Given the description of an element on the screen output the (x, y) to click on. 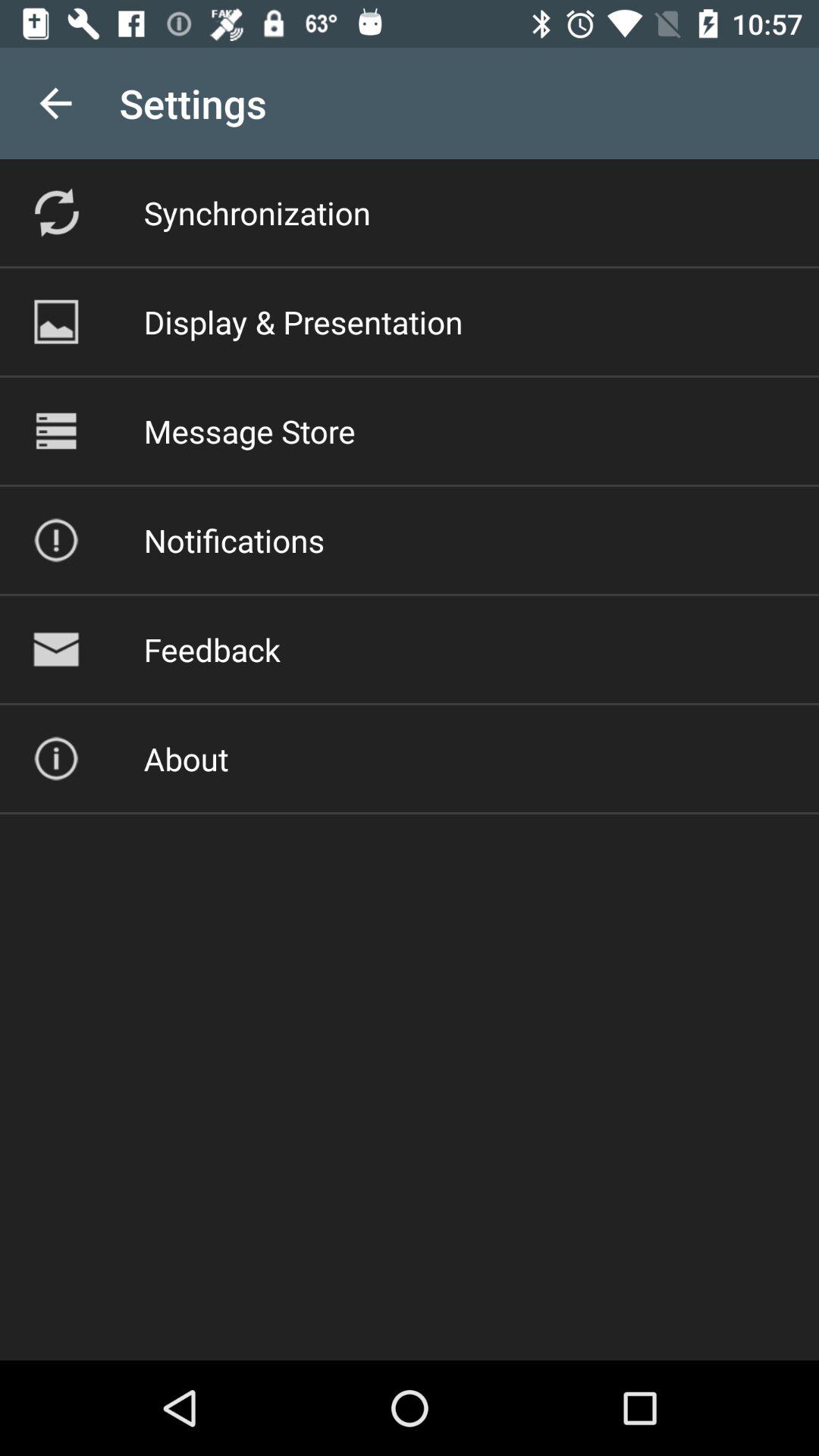
launch the icon below the display & presentation item (249, 430)
